Given the description of an element on the screen output the (x, y) to click on. 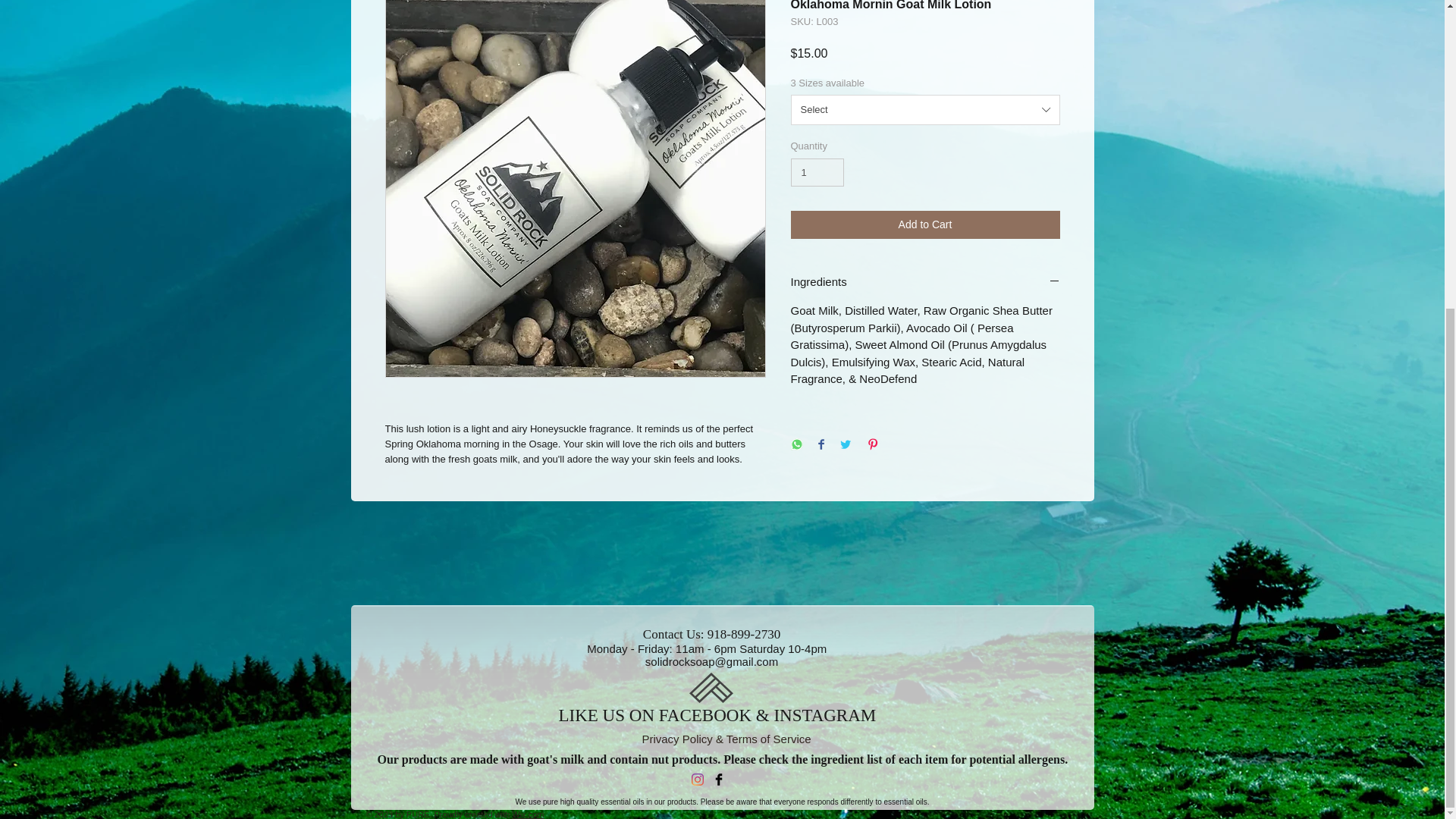
1 (817, 172)
Ingredients (924, 282)
Select (924, 110)
Add to Cart (924, 224)
